Given the description of an element on the screen output the (x, y) to click on. 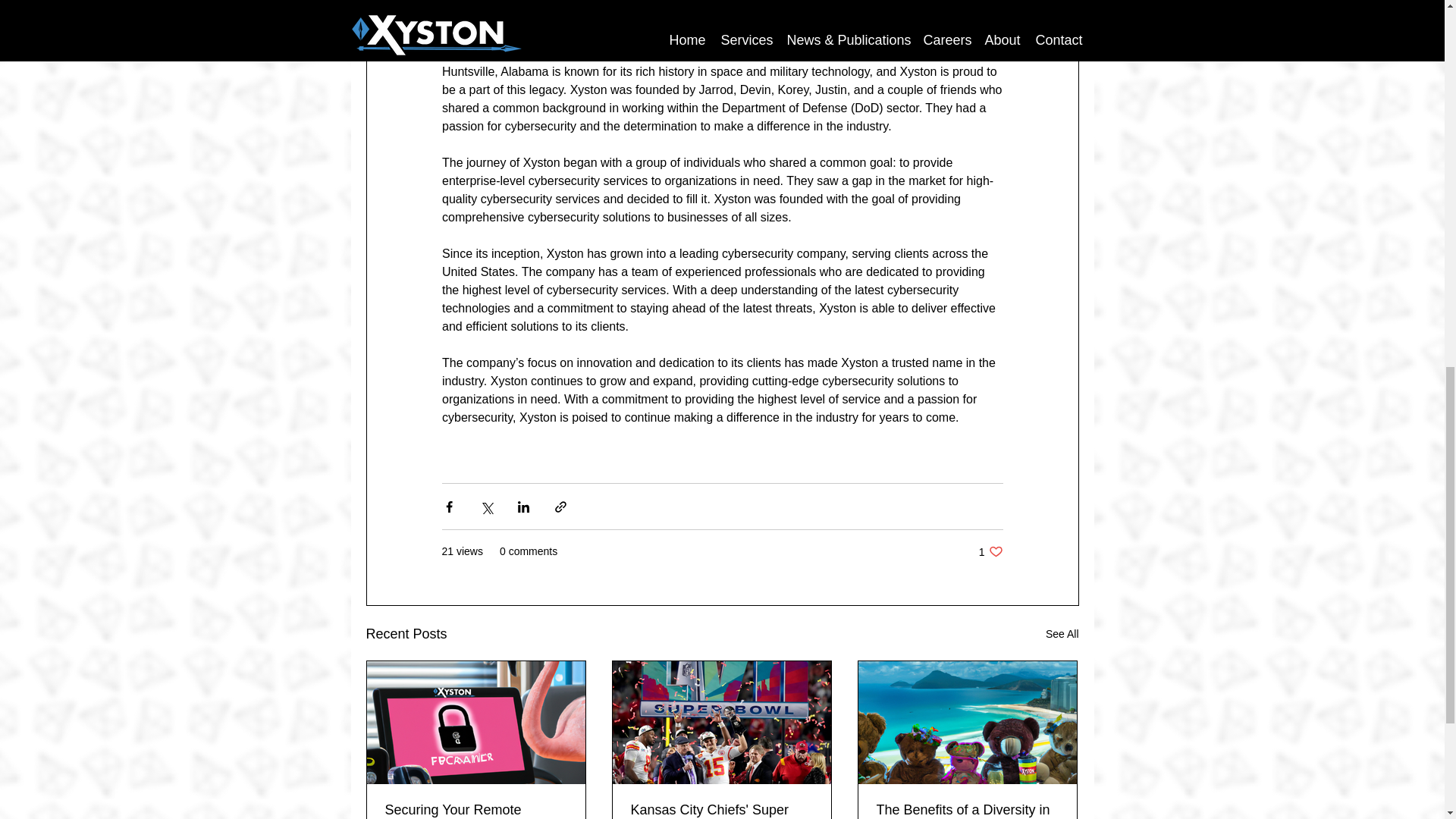
See All (1061, 634)
